Given the description of an element on the screen output the (x, y) to click on. 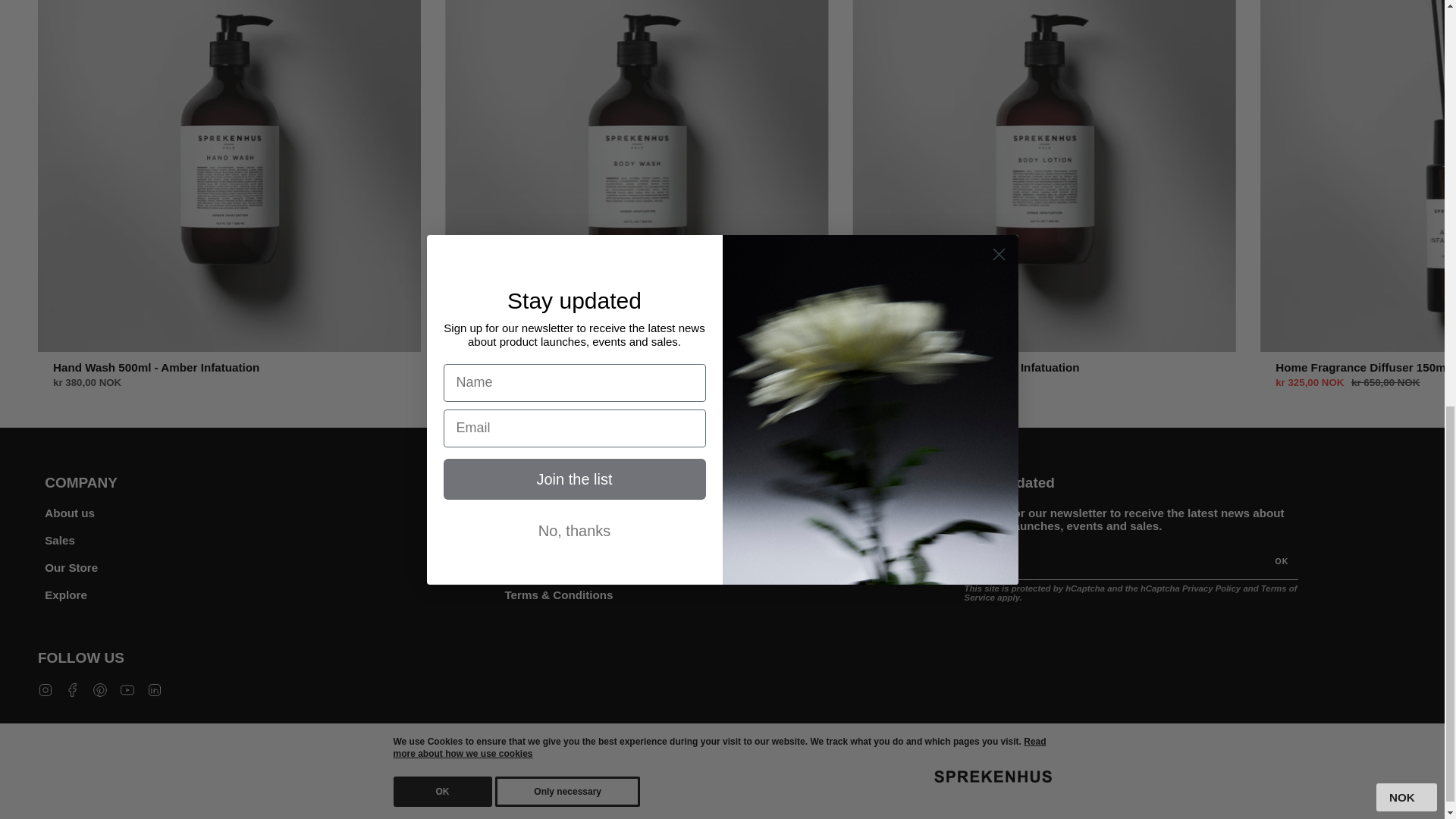
SPREKENHUS on Facebook (72, 688)
SPREKENHUS on Pinterest (100, 688)
SPREKENHUS on Linkedin (154, 688)
SPREKENHUS on Instagram (44, 688)
SPREKENHUS on YouTube (127, 688)
